Given the description of an element on the screen output the (x, y) to click on. 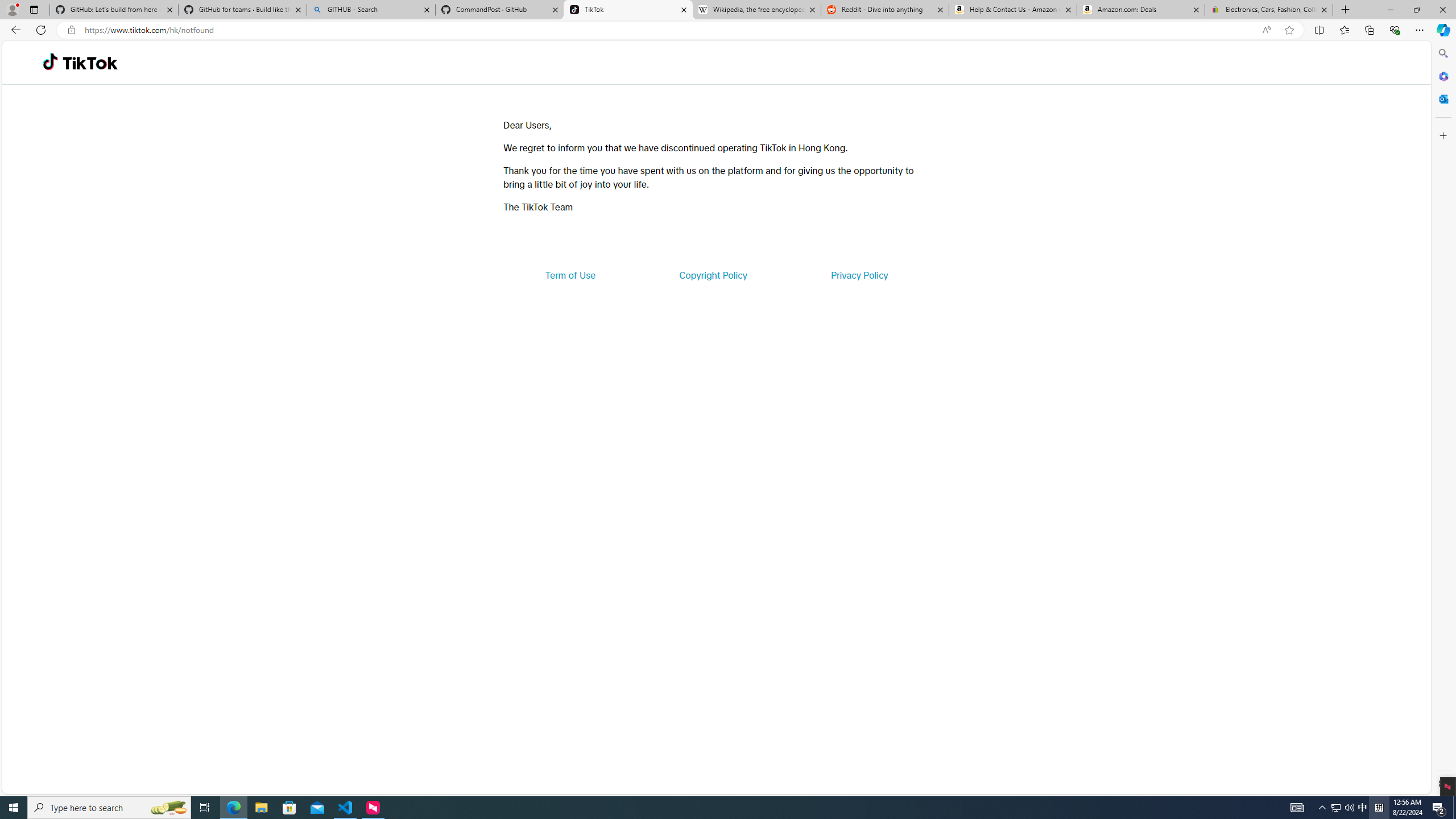
GITHUB - Search (370, 9)
Wikipedia, the free encyclopedia (756, 9)
Reddit - Dive into anything (884, 9)
Help & Contact Us - Amazon Customer Service (1012, 9)
Side bar (1443, 418)
Amazon.com: Deals (1140, 9)
Copyright Policy (712, 274)
